Given the description of an element on the screen output the (x, y) to click on. 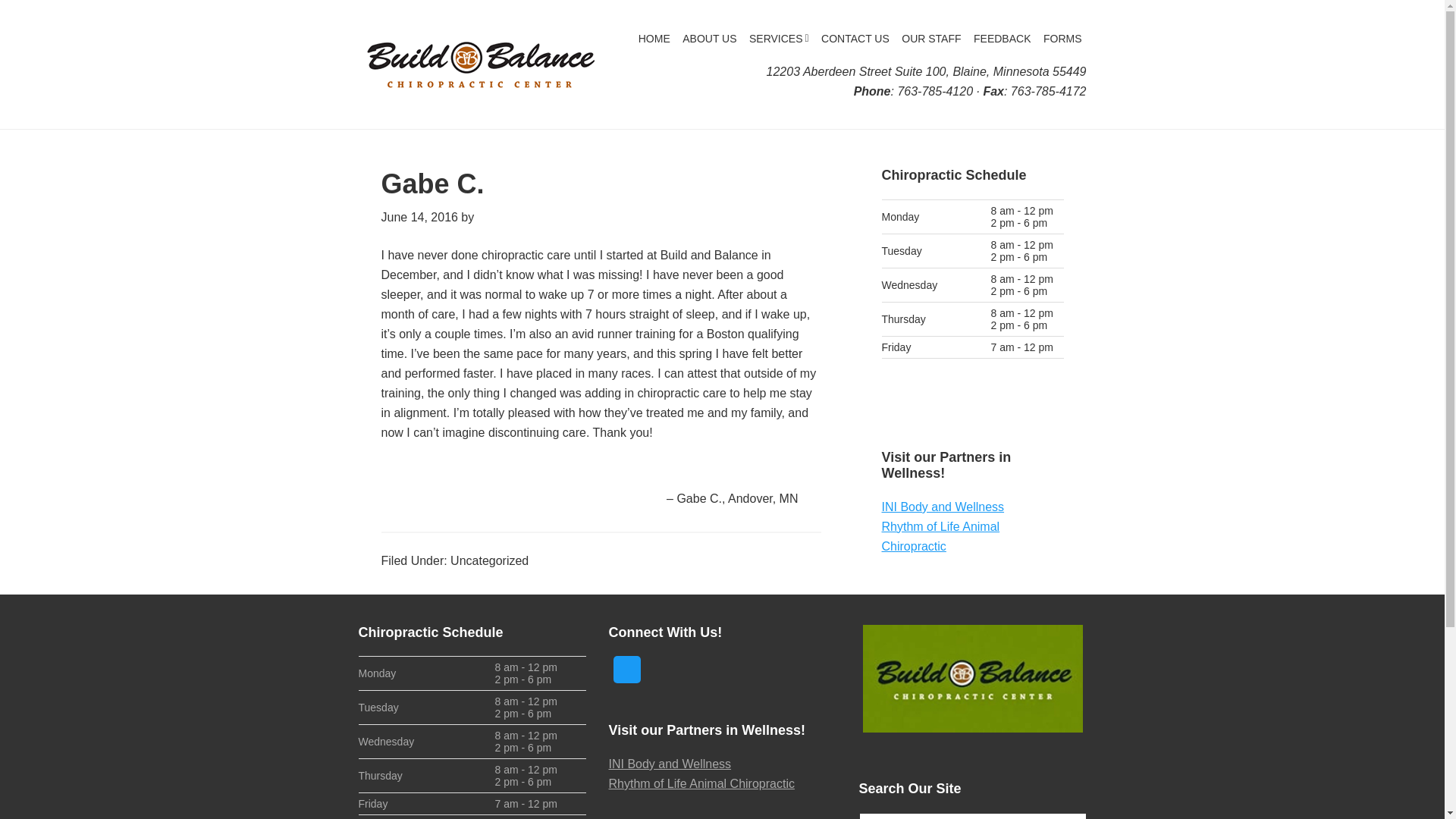
Rhythm of Life Animal Chiropractic (700, 783)
SERVICES (778, 38)
CONTACT US (854, 38)
FORMS (1062, 38)
Rhythm of Life Animal Chiropractic (939, 536)
HOME (654, 38)
Build and Balance Chiropractic Center (478, 64)
OUR STAFF (930, 38)
INI Body and Wellness (942, 506)
FEEDBACK (1002, 38)
INI Body and Wellness (669, 763)
ABOUT US (709, 38)
